Given the description of an element on the screen output the (x, y) to click on. 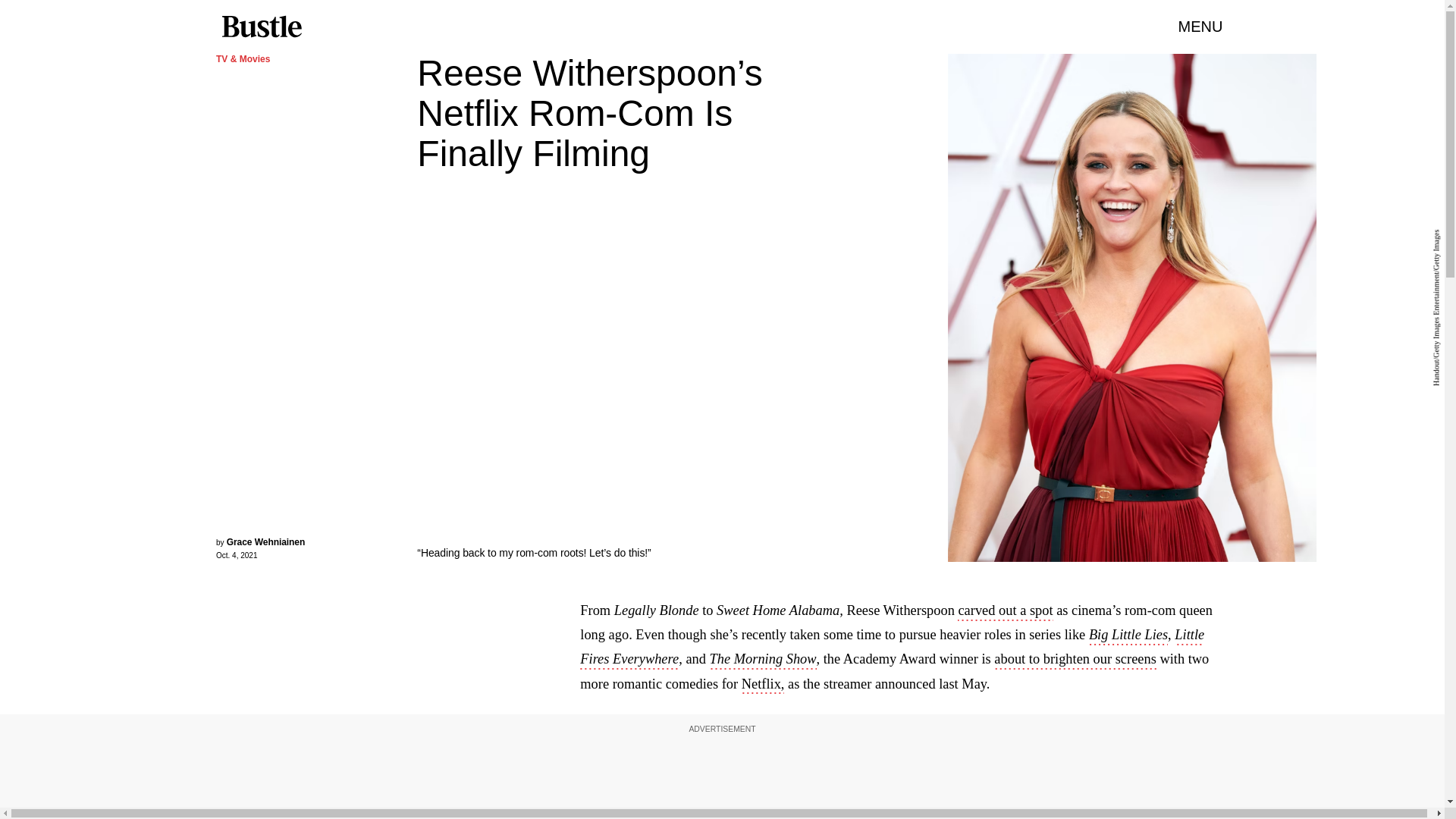
The Morning Show (763, 660)
carved out a spot (1005, 611)
Netflix, (762, 685)
about to brighten our screens (1075, 660)
Little Fires Everywhere (891, 648)
Big Little Lies (1128, 636)
Bustle (261, 26)
Grace Wehniainen (266, 542)
